Given the description of an element on the screen output the (x, y) to click on. 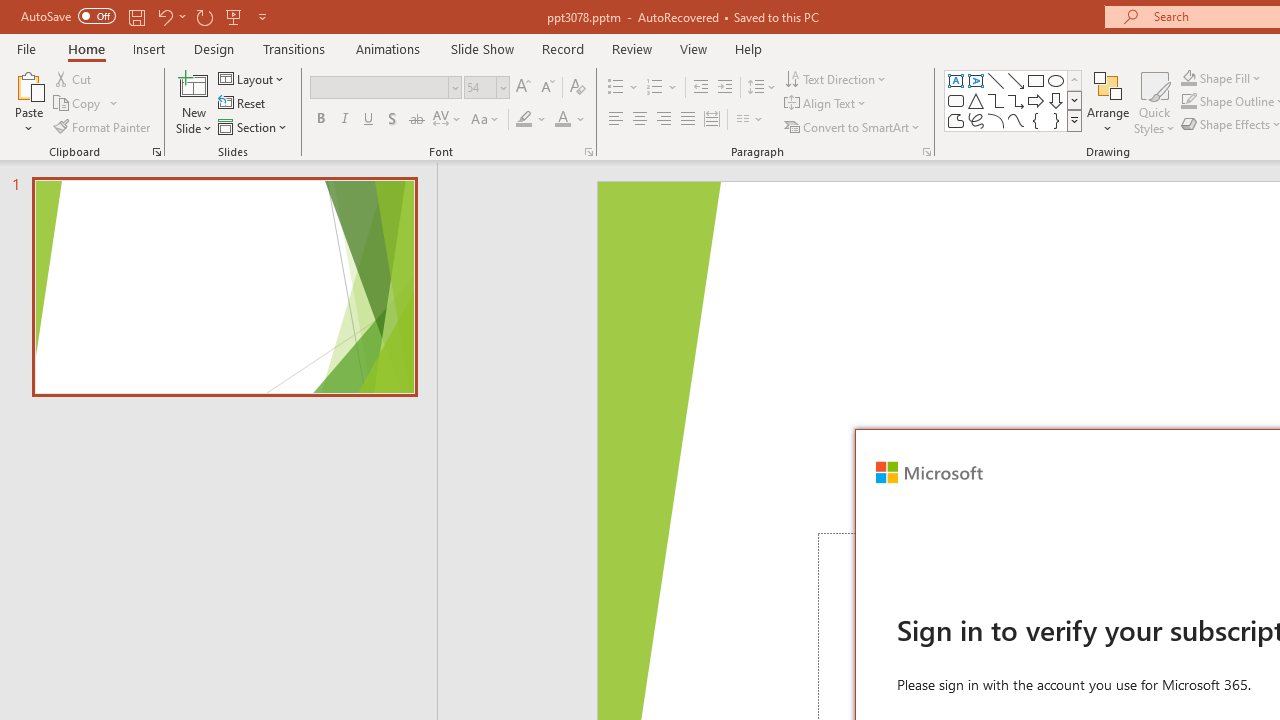
Oval (1055, 80)
Change Case (486, 119)
Distributed (712, 119)
Line Spacing (762, 87)
Vertical Text Box (975, 80)
AutomationID: ShapesInsertGallery (1014, 100)
Connector: Elbow Arrow (1016, 100)
